Given the description of an element on the screen output the (x, y) to click on. 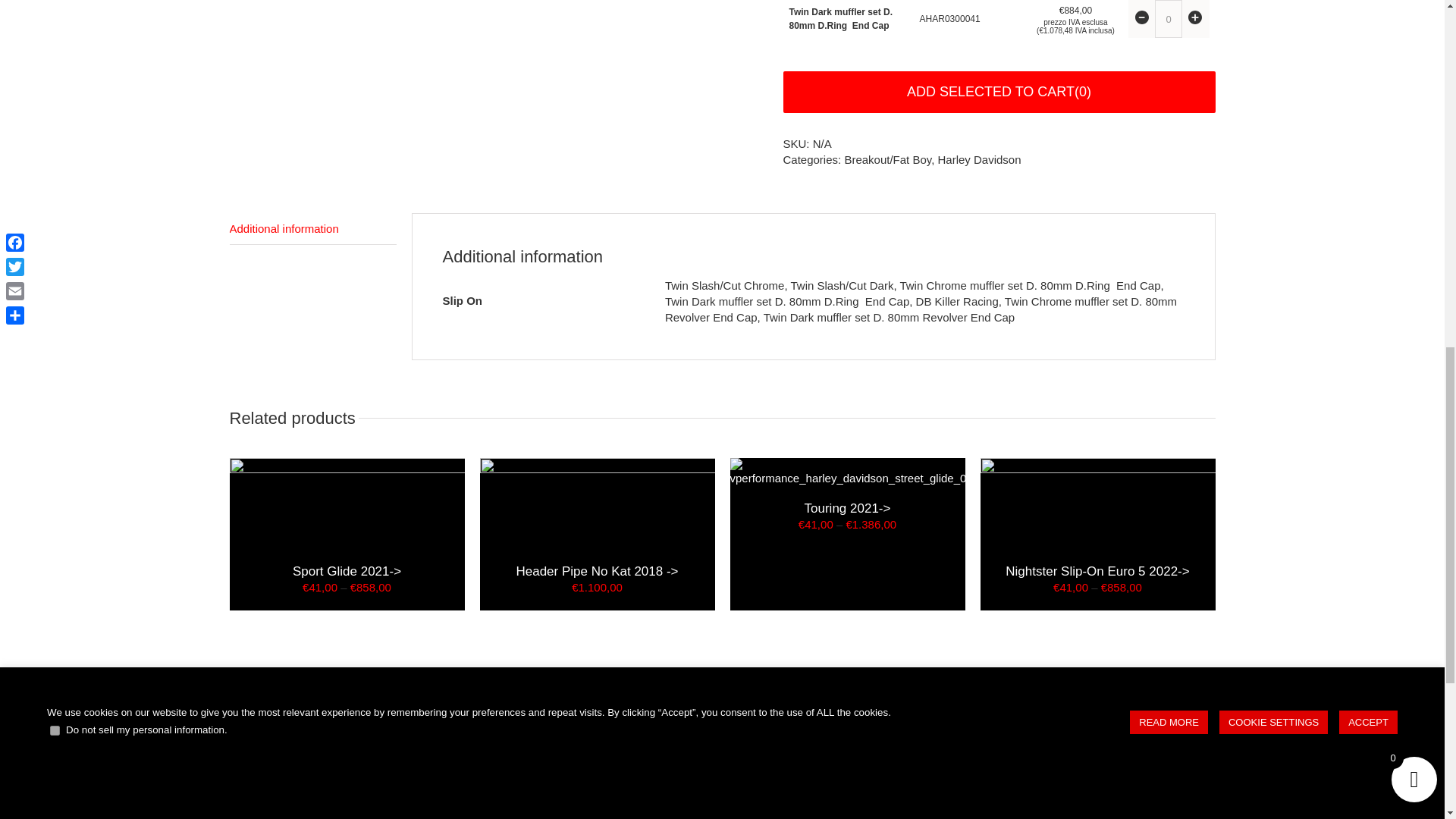
Qty (1167, 18)
0 (1167, 18)
